Given the description of an element on the screen output the (x, y) to click on. 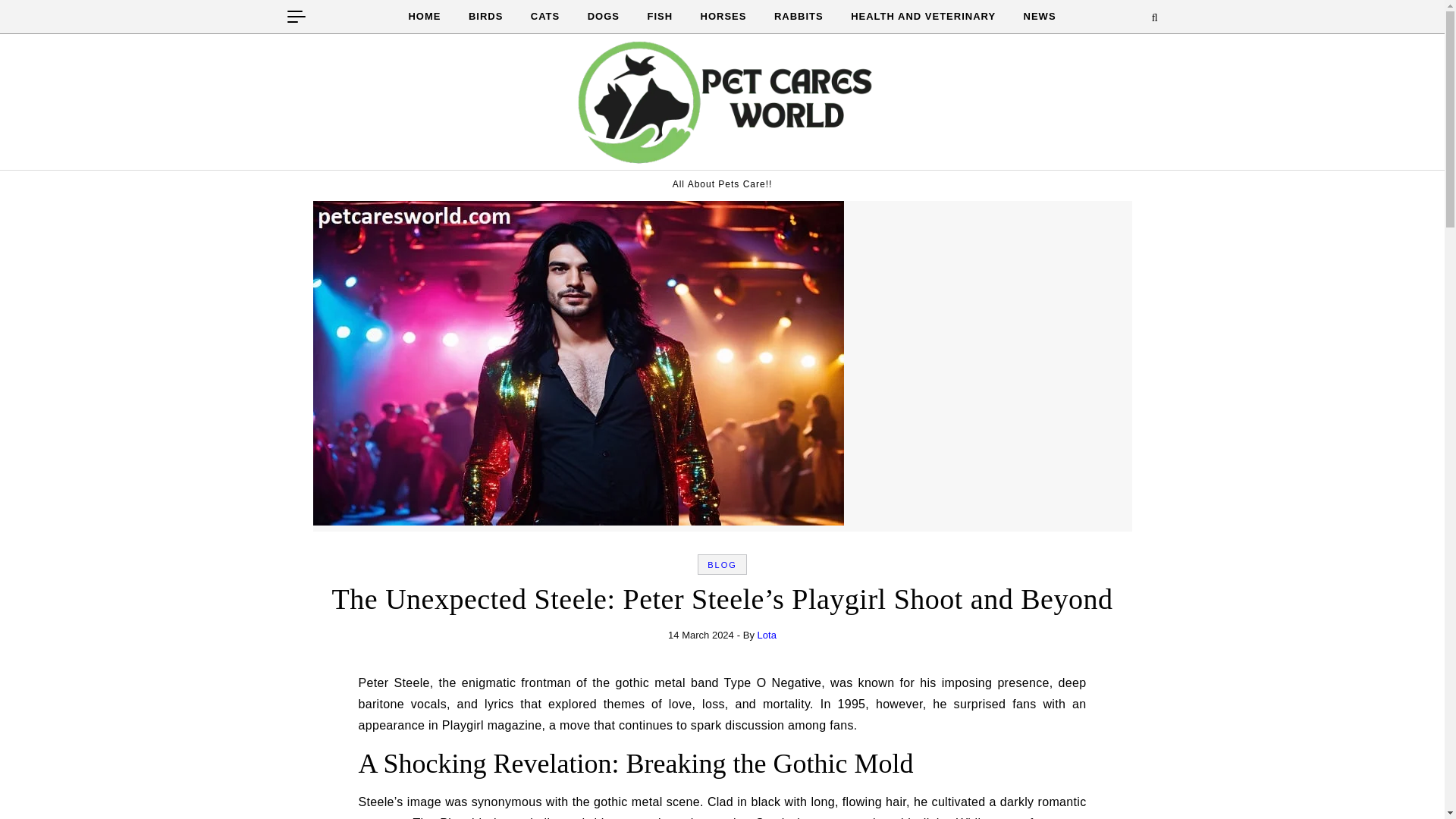
FISH (659, 16)
CATS (545, 16)
Posts by Lota (766, 634)
BIRDS (486, 16)
NEWS (1034, 16)
Lota (766, 634)
HOME (429, 16)
Pet Cares World (721, 105)
RABBITS (798, 16)
HORSES (723, 16)
